Given the description of an element on the screen output the (x, y) to click on. 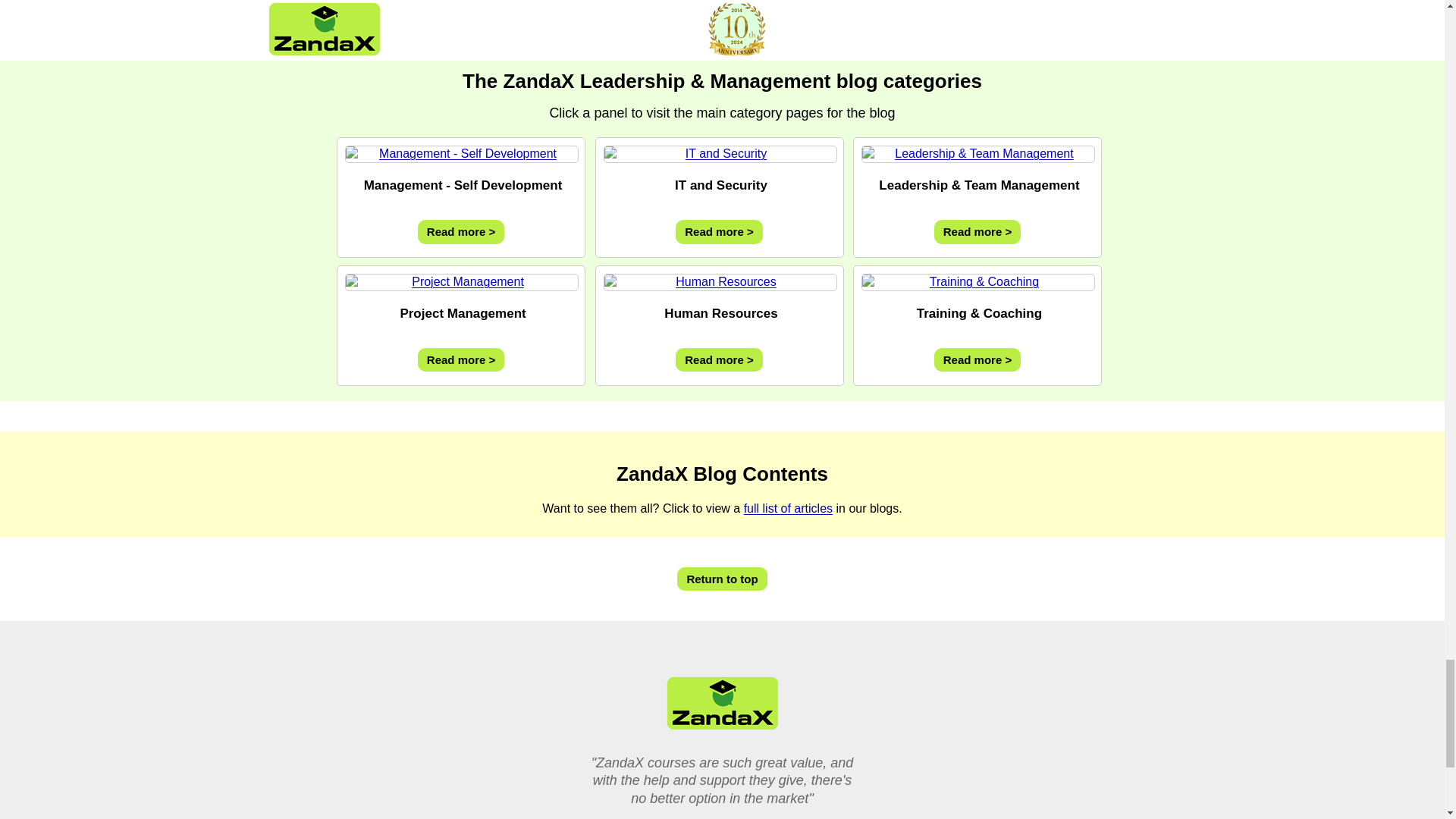
full list of articles (788, 508)
Return to top (722, 578)
Return to top (722, 578)
